Given the description of an element on the screen output the (x, y) to click on. 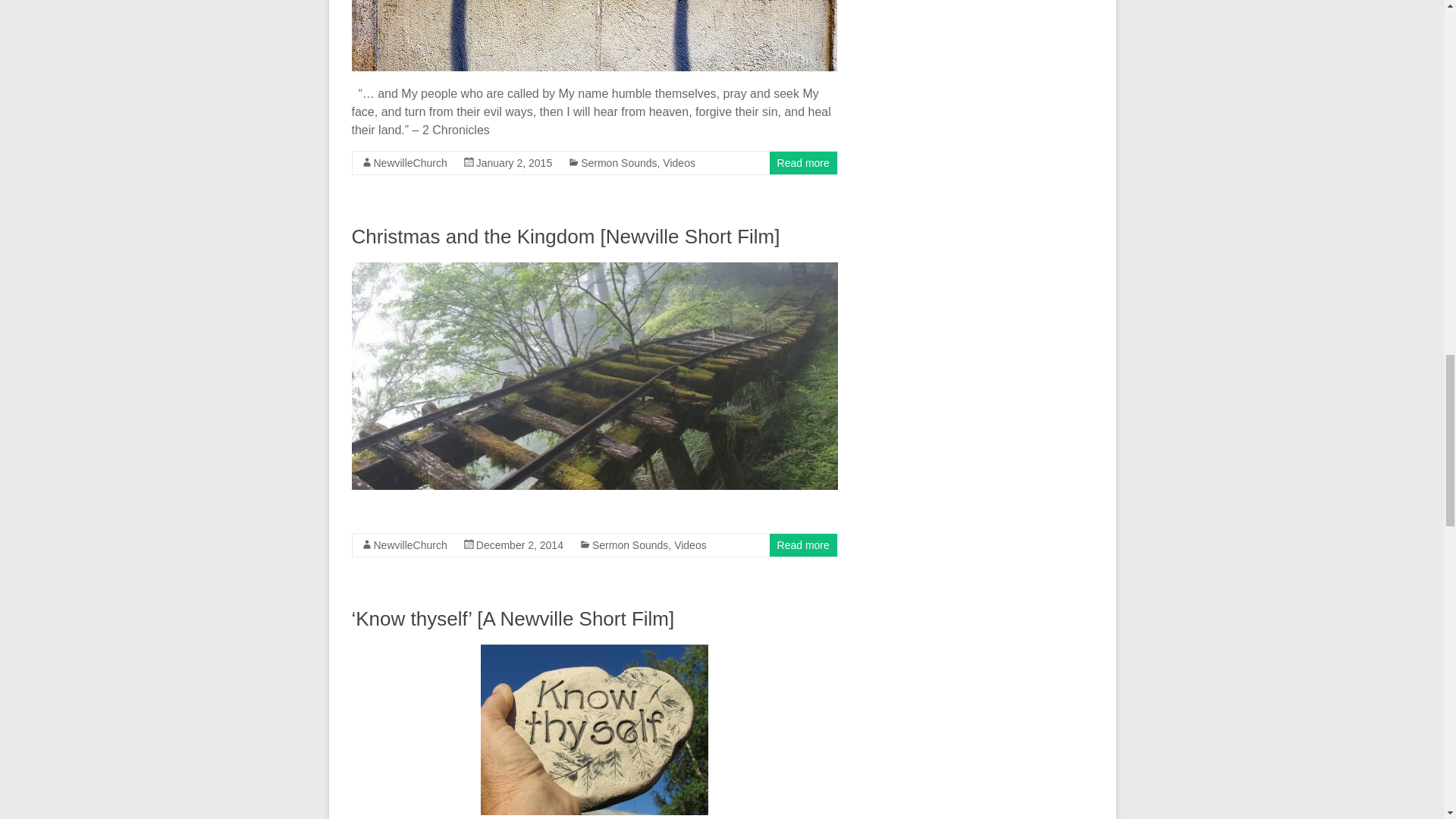
January 2, 2015 (513, 162)
Sermon Sounds (618, 162)
NewvilleChurch (409, 544)
Videos (678, 162)
Read more (803, 162)
NewvilleChurch (409, 162)
